Given the description of an element on the screen output the (x, y) to click on. 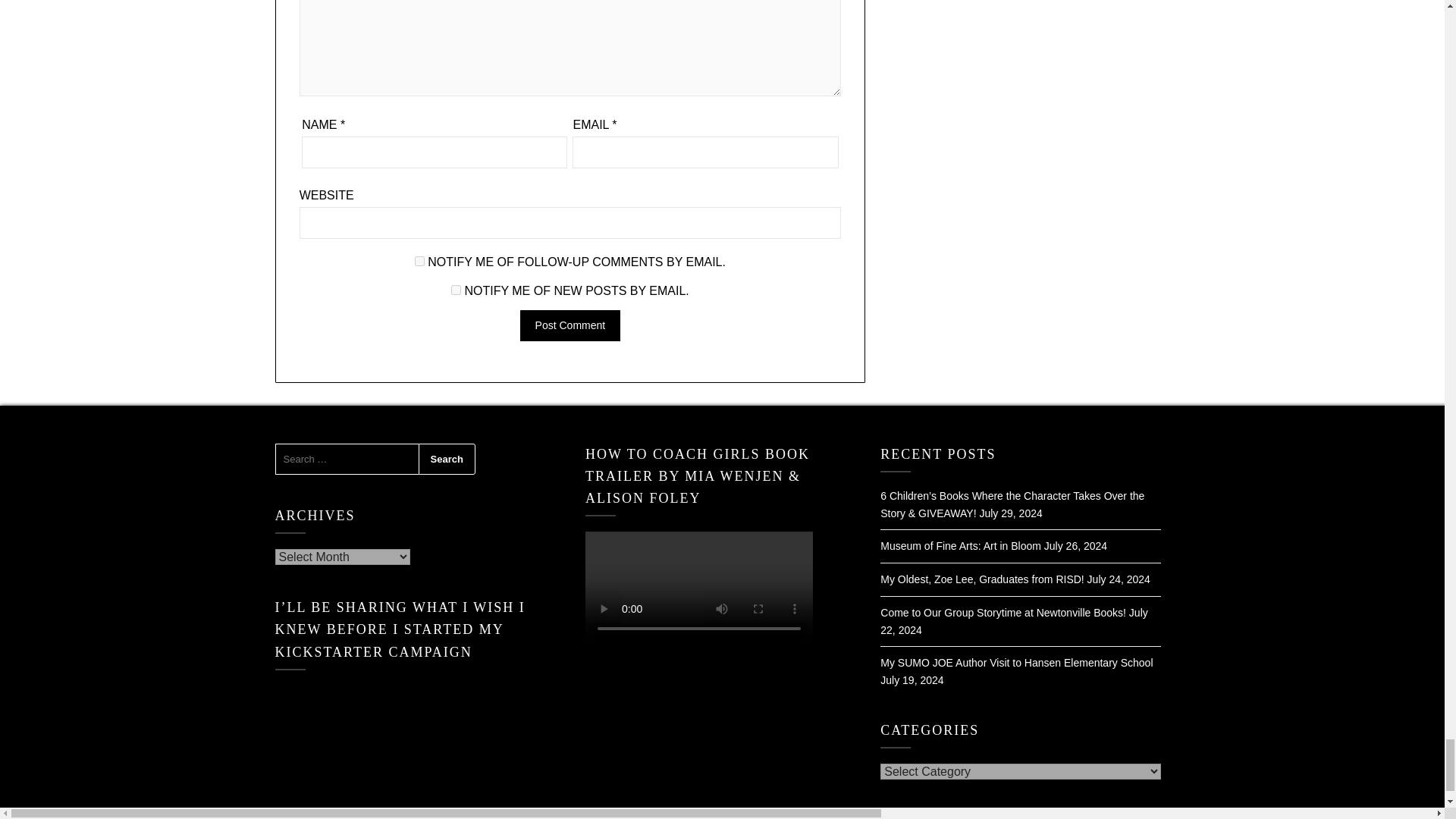
subscribe (456, 289)
Search (447, 459)
Search (447, 459)
subscribe (419, 261)
Post Comment (570, 325)
